Given the description of an element on the screen output the (x, y) to click on. 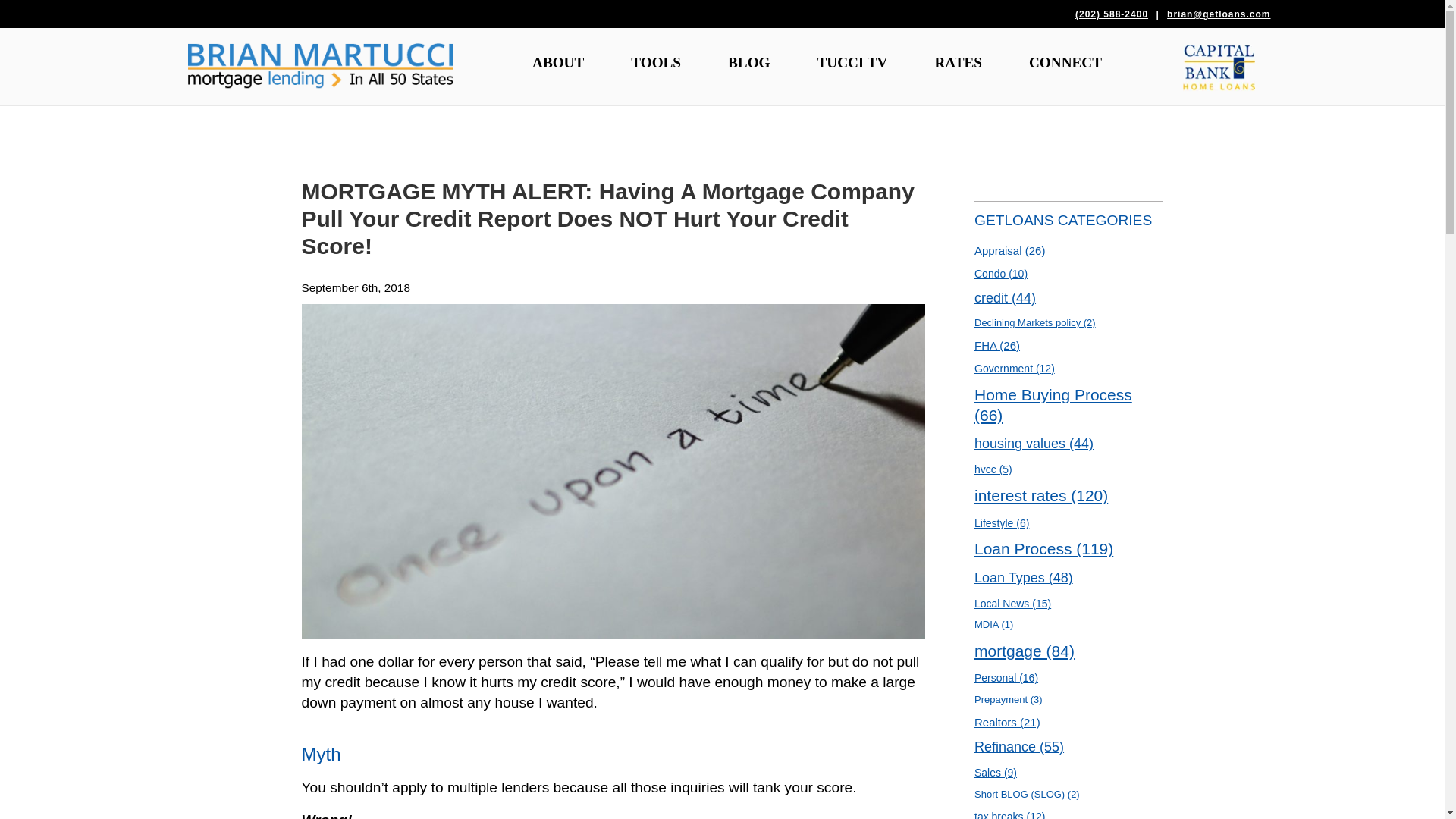
BLOG (748, 62)
TUCCI TV (852, 62)
ABOUT (558, 61)
CONNECT (1065, 61)
TOOLS (655, 61)
RATES (957, 62)
